Given the description of an element on the screen output the (x, y) to click on. 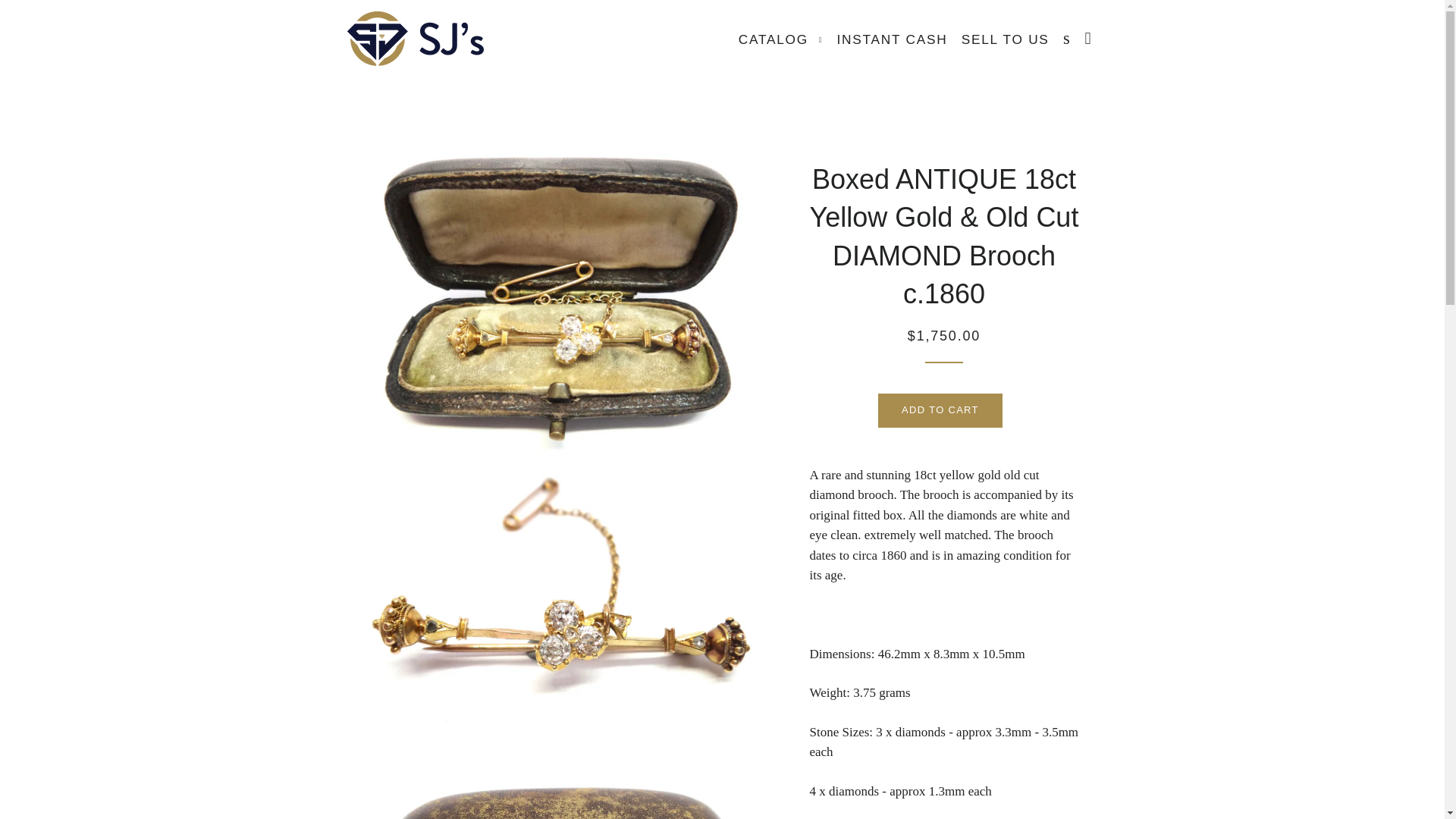
CATALOG (780, 39)
